Given the description of an element on the screen output the (x, y) to click on. 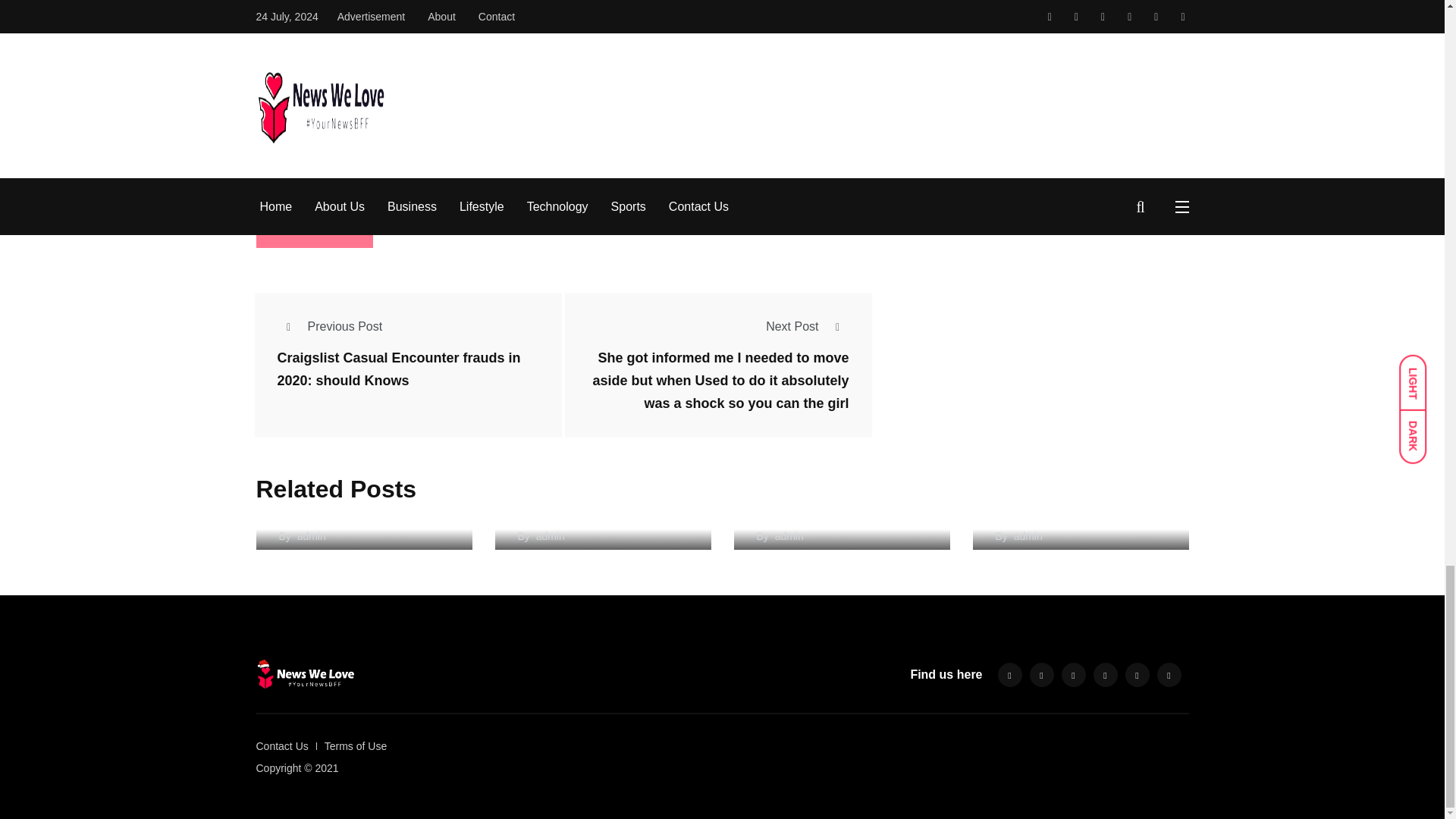
Posts by admin (311, 535)
yes (261, 175)
Post Comment (315, 228)
